Given the description of an element on the screen output the (x, y) to click on. 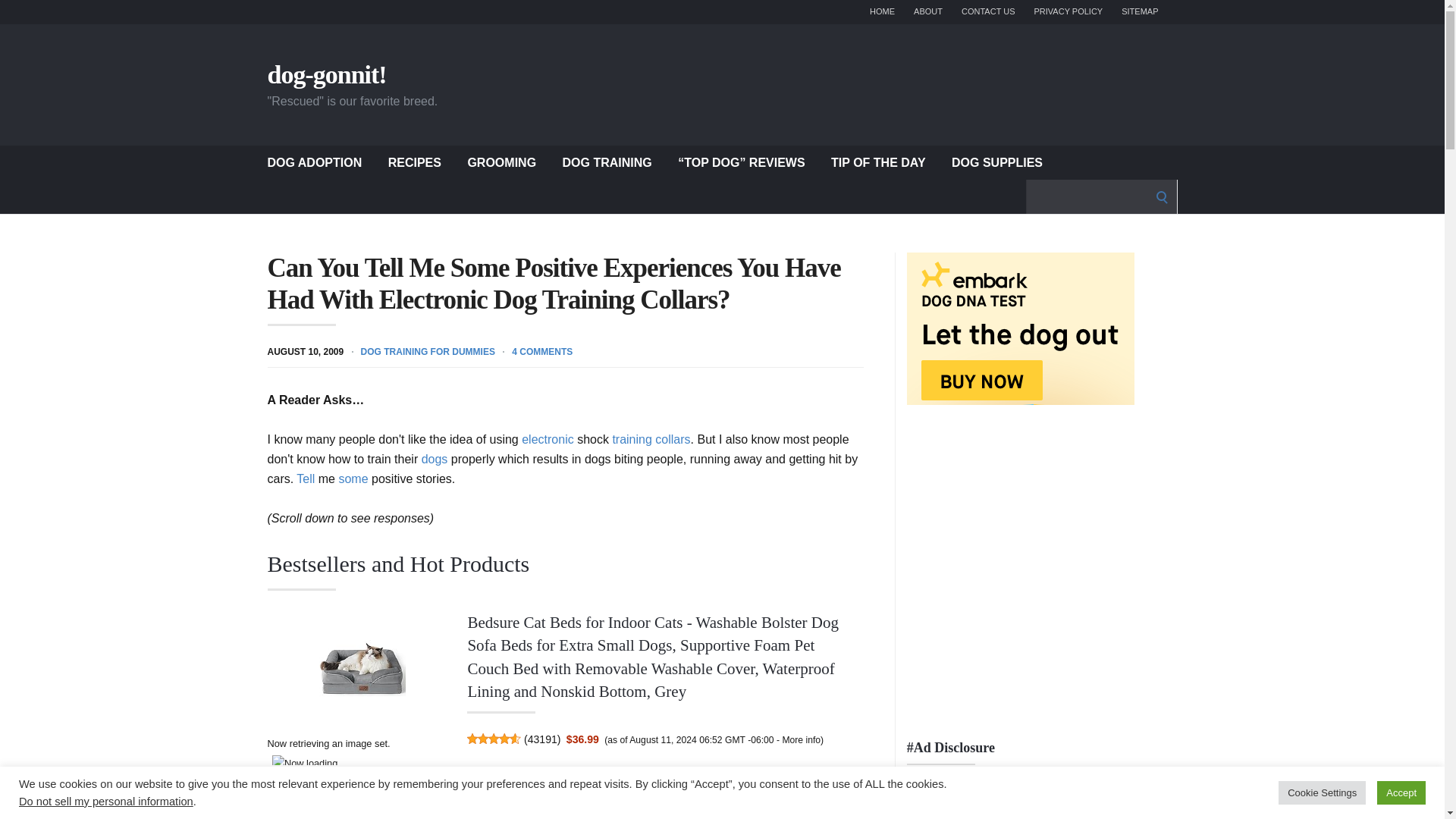
collars (672, 439)
DOG TRAINING (607, 162)
Posts tagged with Some (352, 478)
ABOUT (928, 11)
dogs (435, 459)
Tell (305, 478)
4 COMMENTS (542, 350)
